Given the description of an element on the screen output the (x, y) to click on. 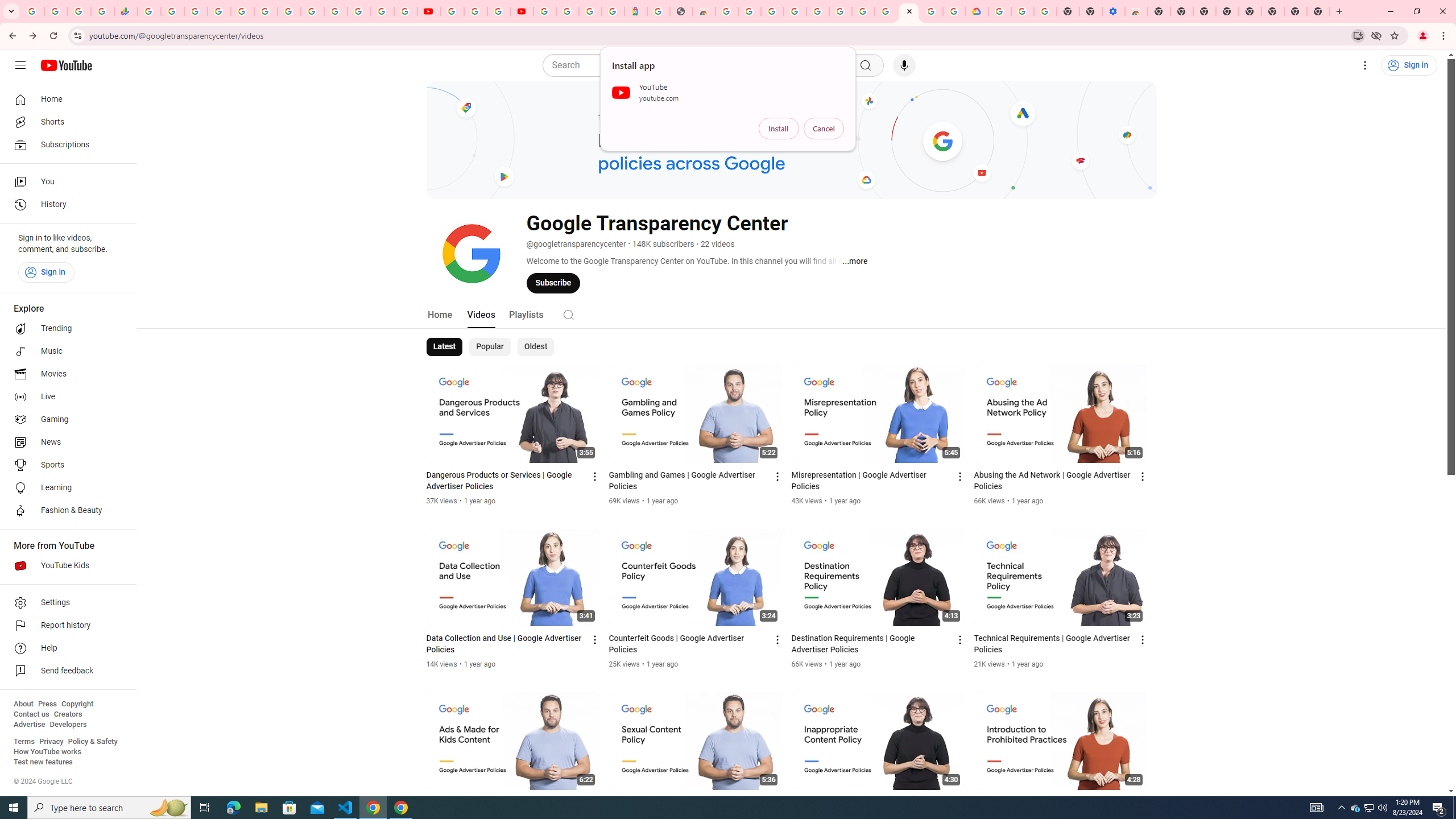
Playlists (525, 314)
Google Account Help (1022, 11)
Google Account Help (475, 11)
Creators (67, 714)
News (64, 441)
Privacy (51, 741)
Settings - Accessibility (1113, 11)
